Given the description of an element on the screen output the (x, y) to click on. 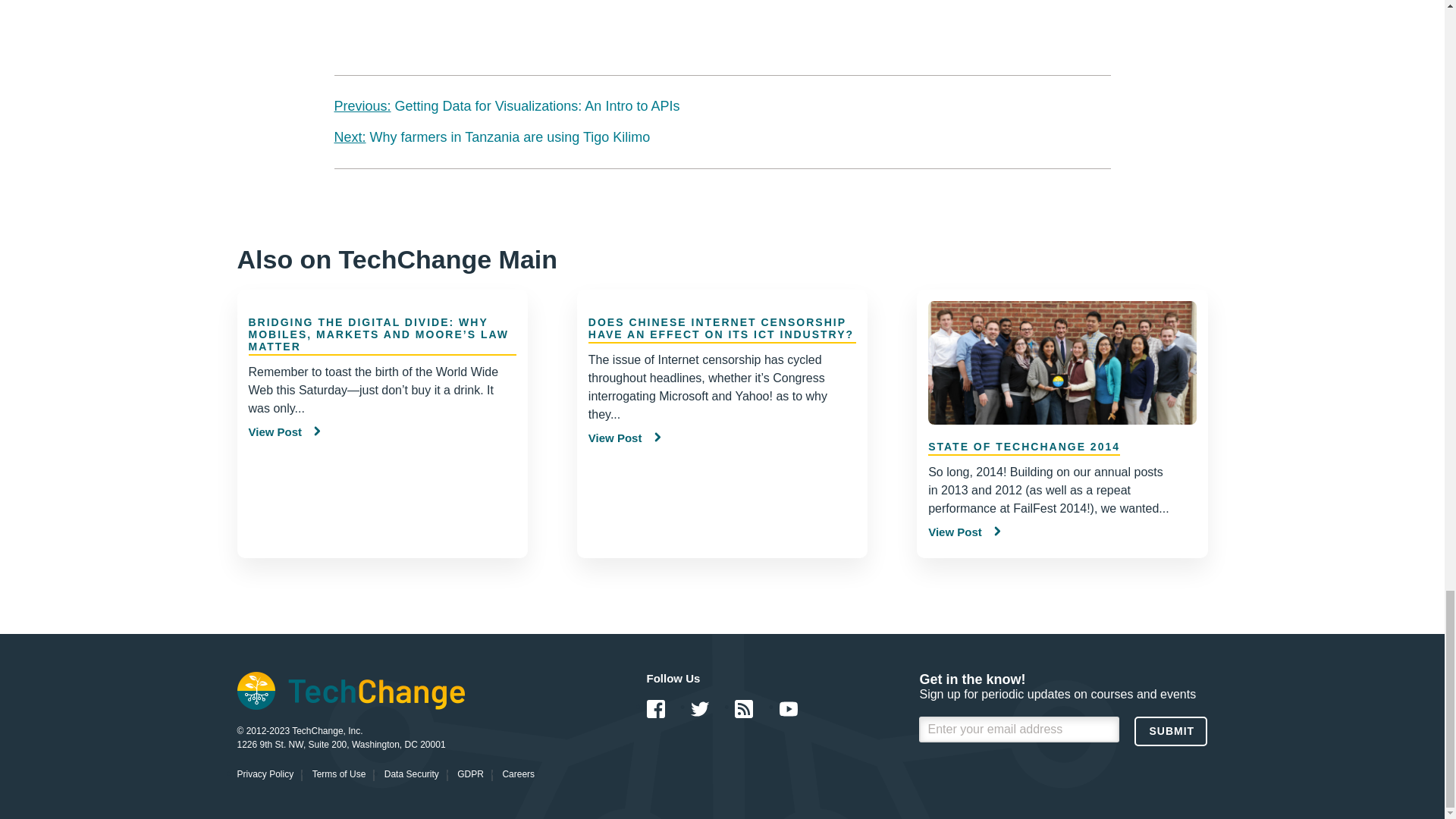
Submit (1170, 731)
Previous: Getting Data for Visualizations: An Intro to APIs (506, 105)
Privacy Policy (264, 774)
Terms of Use (339, 774)
Next: Why farmers in Tanzania are using Tigo Kilimo (491, 136)
Submit (1170, 731)
GDPR (470, 774)
View Post (624, 437)
View Post (964, 531)
